Given the description of an element on the screen output the (x, y) to click on. 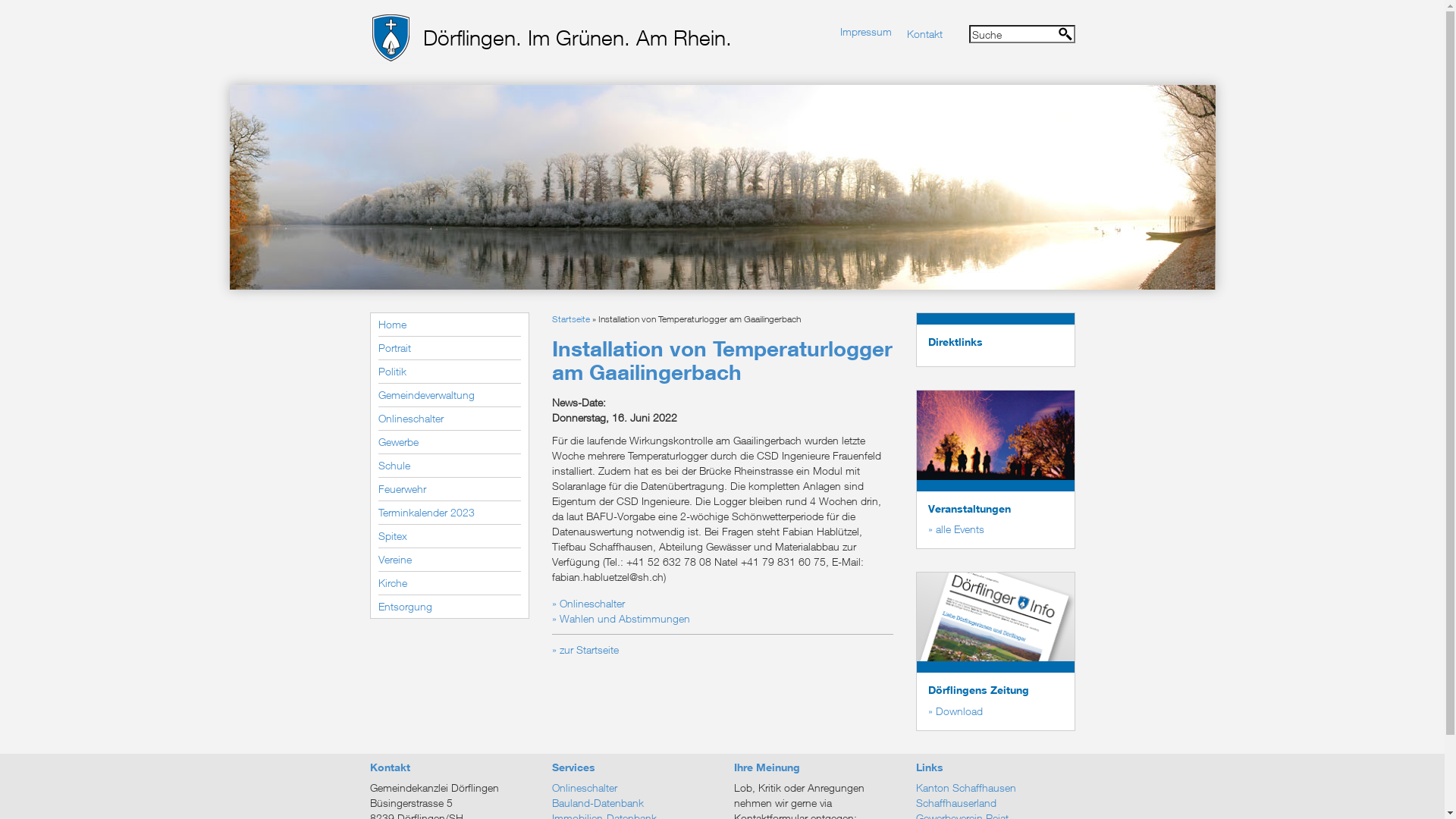
Onlineschalter Element type: text (448, 418)
Onlineschalter Element type: text (588, 602)
Kirche Element type: text (448, 583)
Gemeindeverwaltung Element type: text (448, 395)
Entsorgung Element type: text (448, 606)
Geben Sie die Begriffe ein, nach denen Sie suchen. Element type: hover (1022, 34)
Vereine Element type: text (448, 559)
Wahlen und Abstimmungen Element type: text (621, 617)
Home Element type: text (448, 324)
Impressum Element type: text (865, 31)
Onlineschalter Element type: text (631, 787)
Gewerbe Element type: text (448, 442)
Bauland-Datenbank Element type: text (631, 802)
Portrait Element type: text (448, 348)
Kanton Schaffhausen Element type: text (995, 787)
Terminkalender 2023 Element type: text (448, 512)
Schule Element type: text (448, 465)
Spitex Element type: text (448, 536)
Startseite Element type: text (570, 318)
Feuerwehr Element type: text (448, 489)
Kontakt Element type: text (924, 33)
Schaffhauserland Element type: text (995, 802)
Politik Element type: text (448, 371)
